Given the description of an element on the screen output the (x, y) to click on. 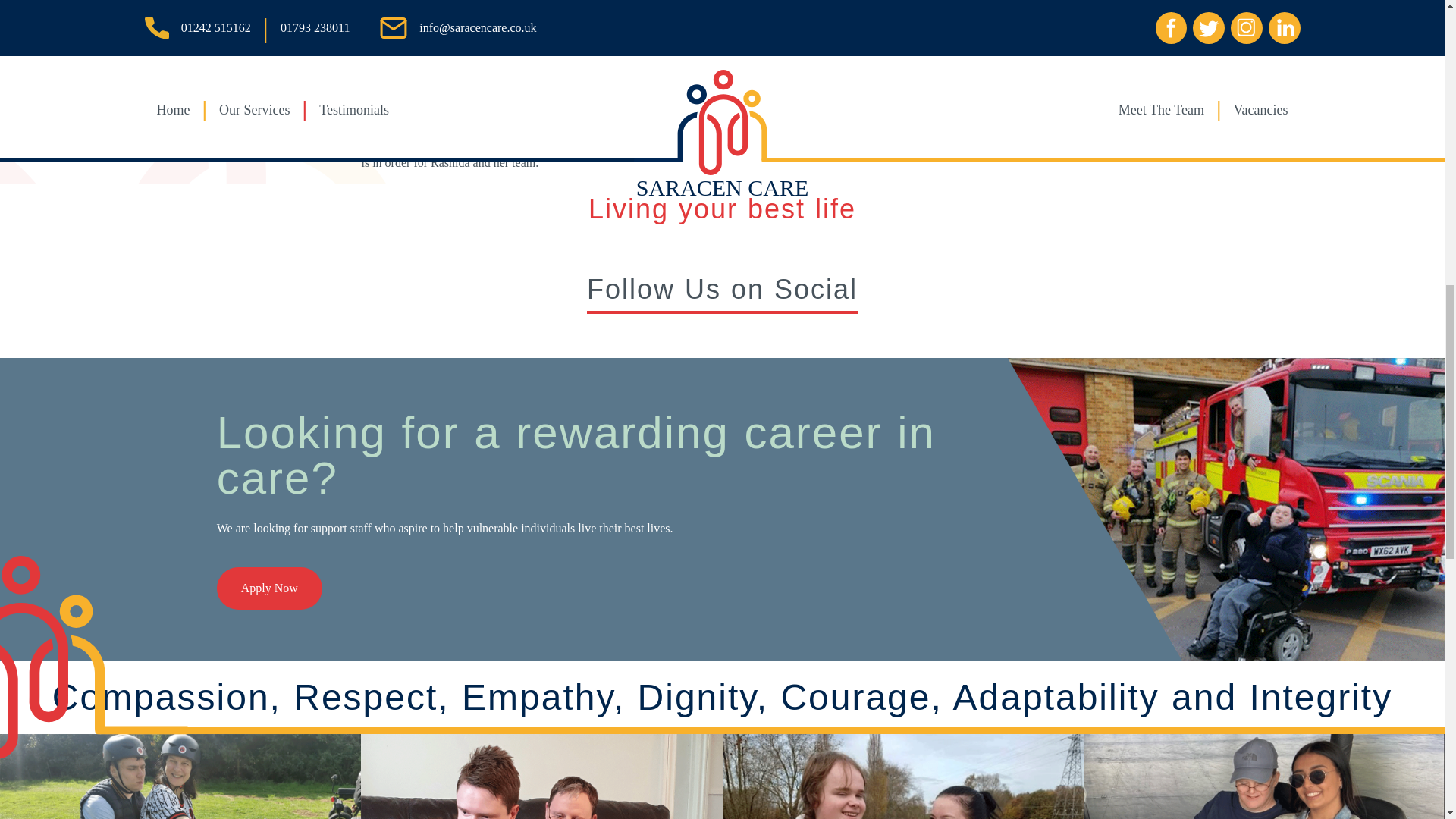
Apply Now (268, 588)
